Given the description of an element on the screen output the (x, y) to click on. 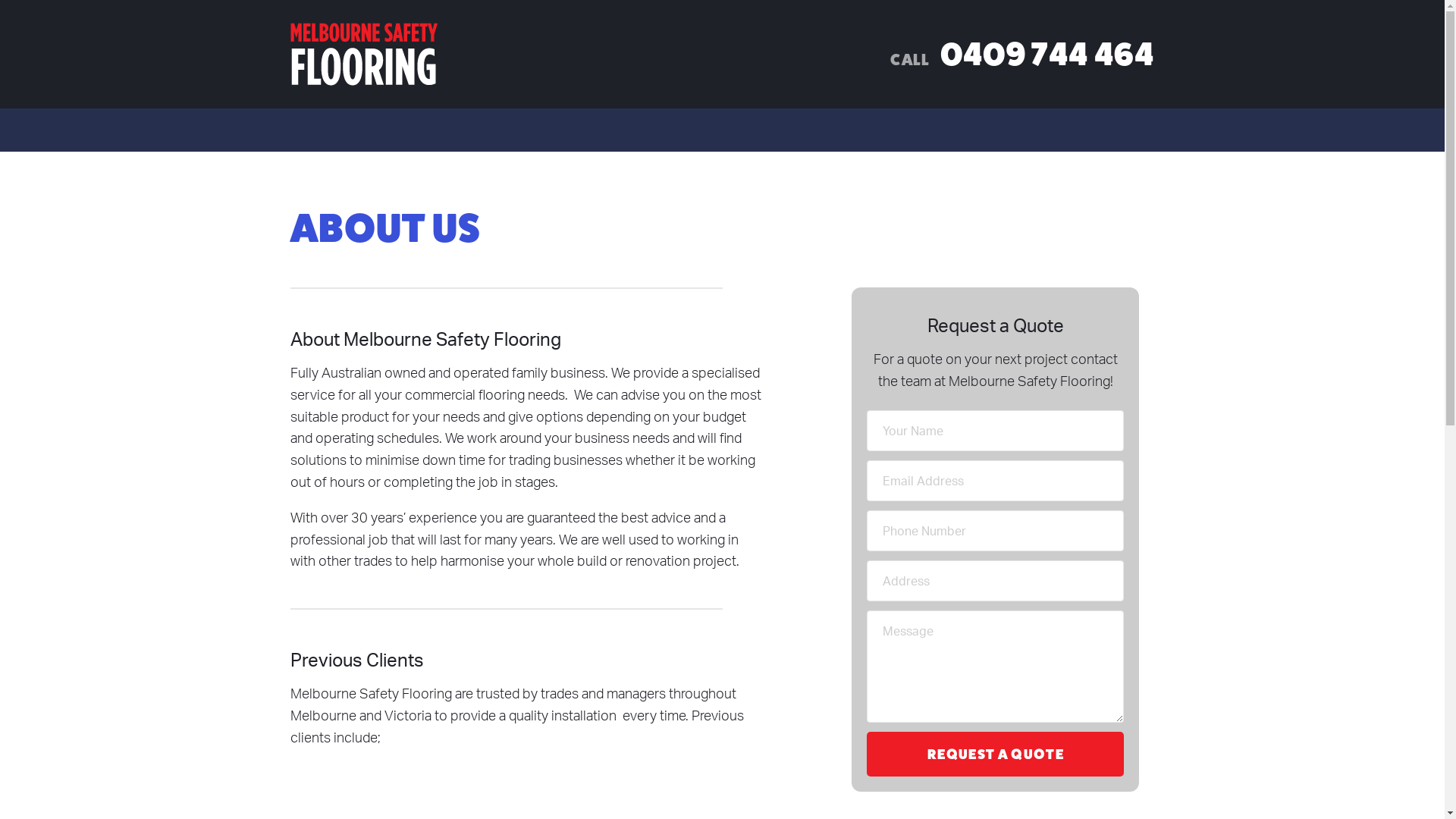
REQUEST A QUOTE Element type: text (994, 753)
